Given the description of an element on the screen output the (x, y) to click on. 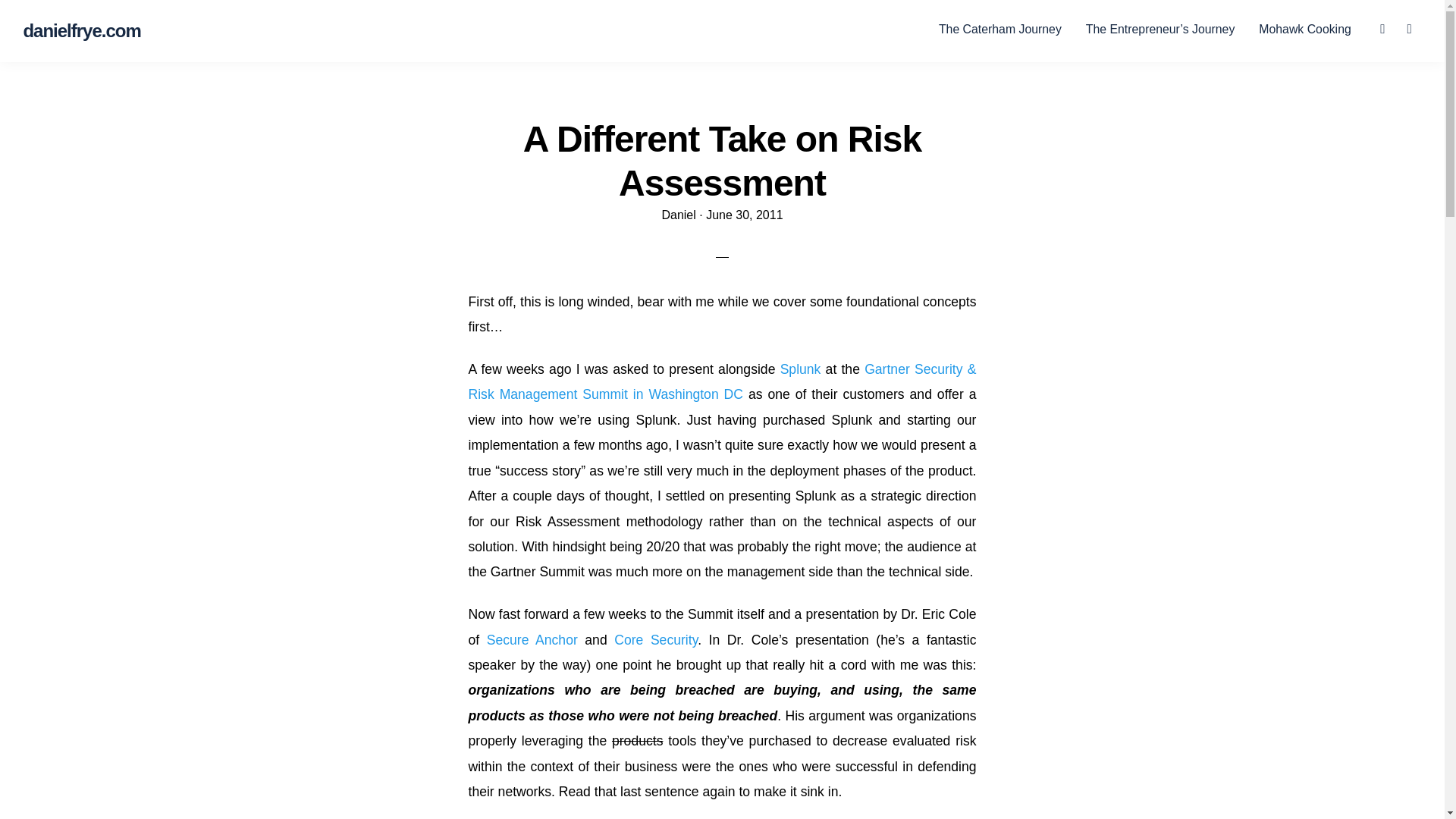
LinkedIn (1392, 27)
danielfrye.com (81, 32)
The Caterham Journey (1000, 28)
Search (1418, 27)
Secure Anchor (532, 639)
Mohawk Cooking (1304, 28)
danielfrye.com - my projects and random insights (81, 32)
Core Security (655, 639)
Splunk (800, 368)
